Given the description of an element on the screen output the (x, y) to click on. 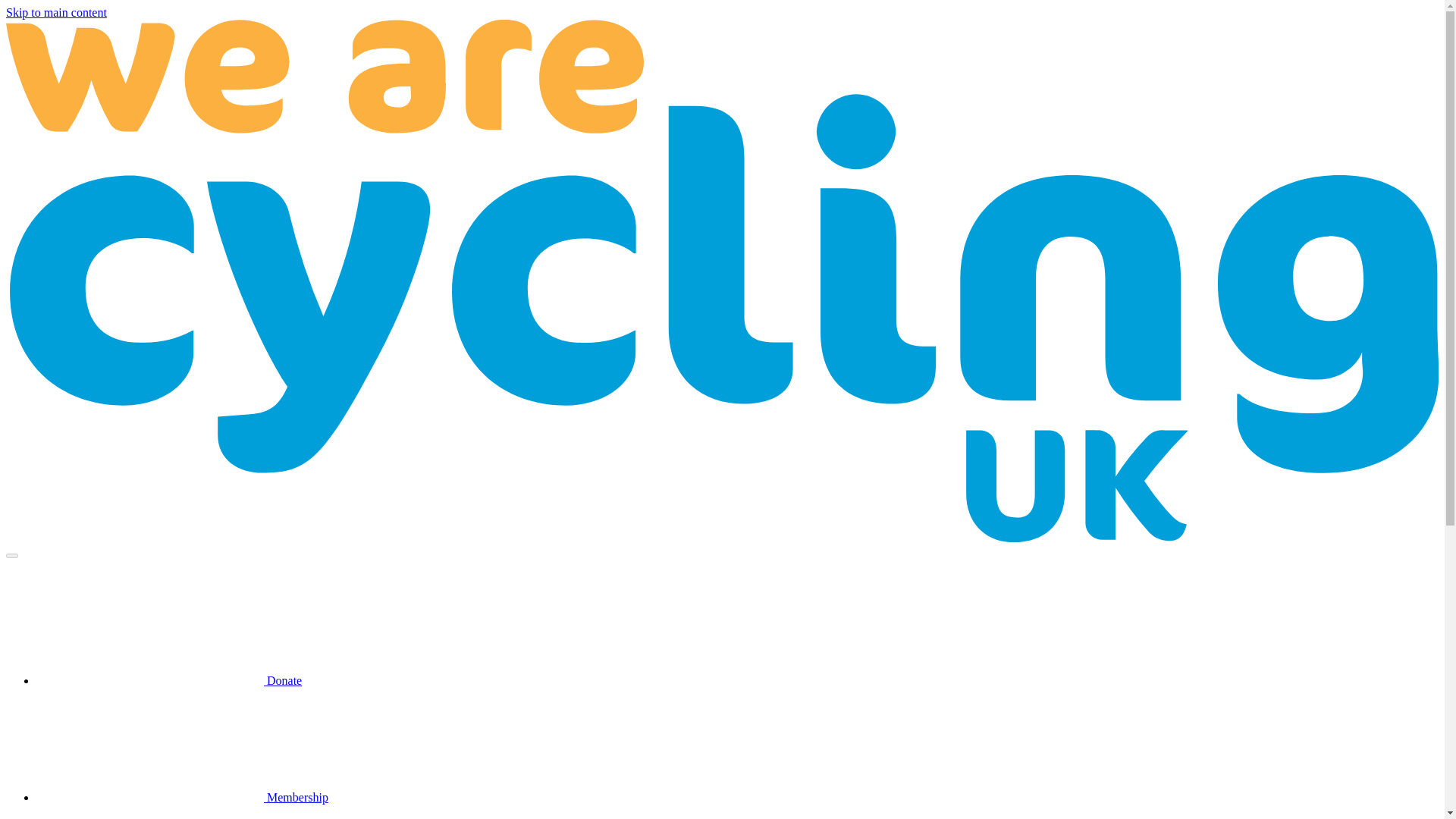
Skip to main content (55, 11)
Membership (182, 797)
Membership (182, 797)
Donate (168, 680)
Donate (168, 680)
